Given the description of an element on the screen output the (x, y) to click on. 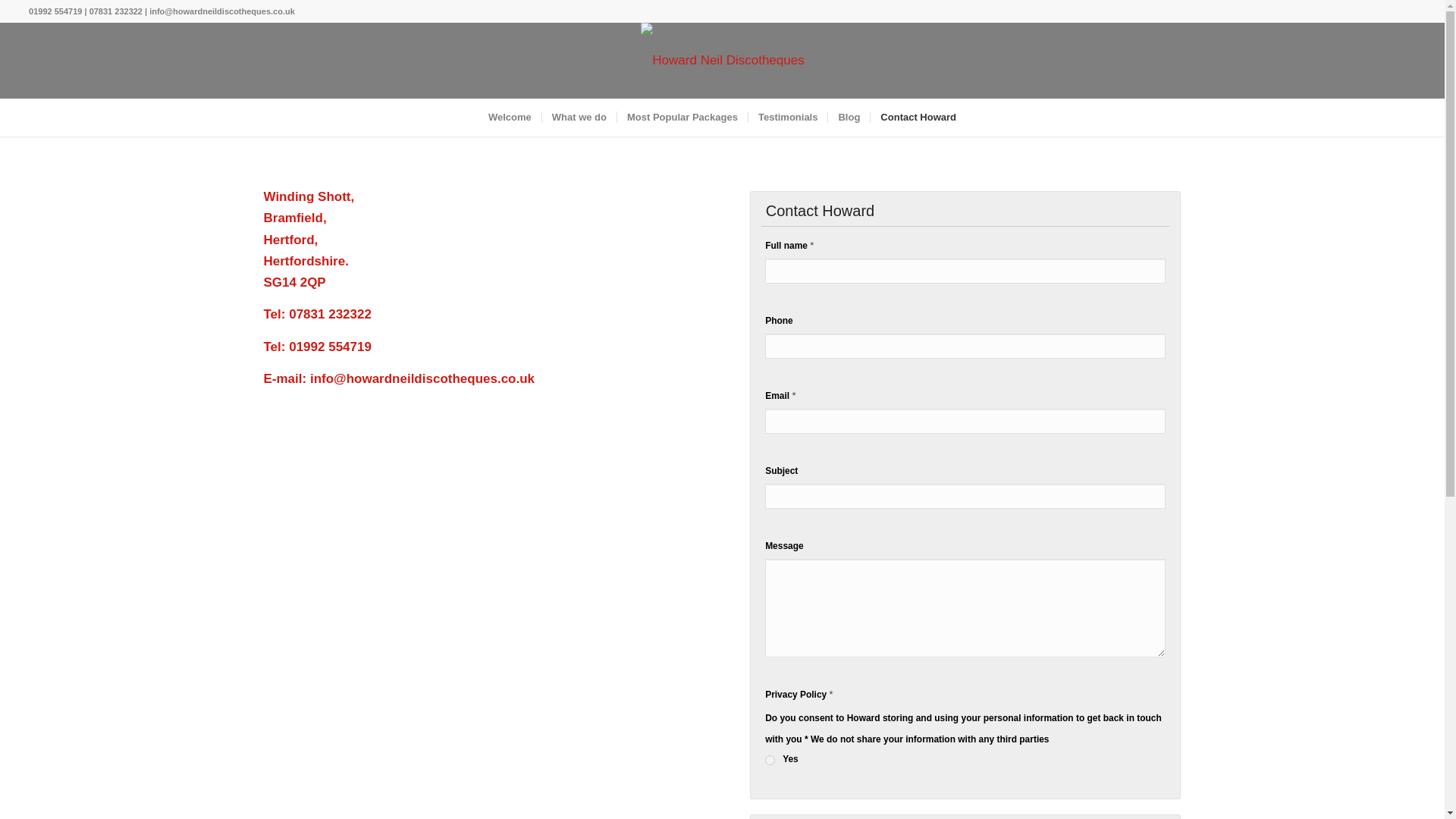
Most Popular Packages (681, 117)
Welcome (510, 117)
Tel: 01992 554719 (317, 346)
Yes (769, 759)
What we do (578, 117)
Blog (848, 117)
Contact Howard (917, 117)
Tel: 07831 232322 (317, 314)
Testimonials (788, 117)
